Given the description of an element on the screen output the (x, y) to click on. 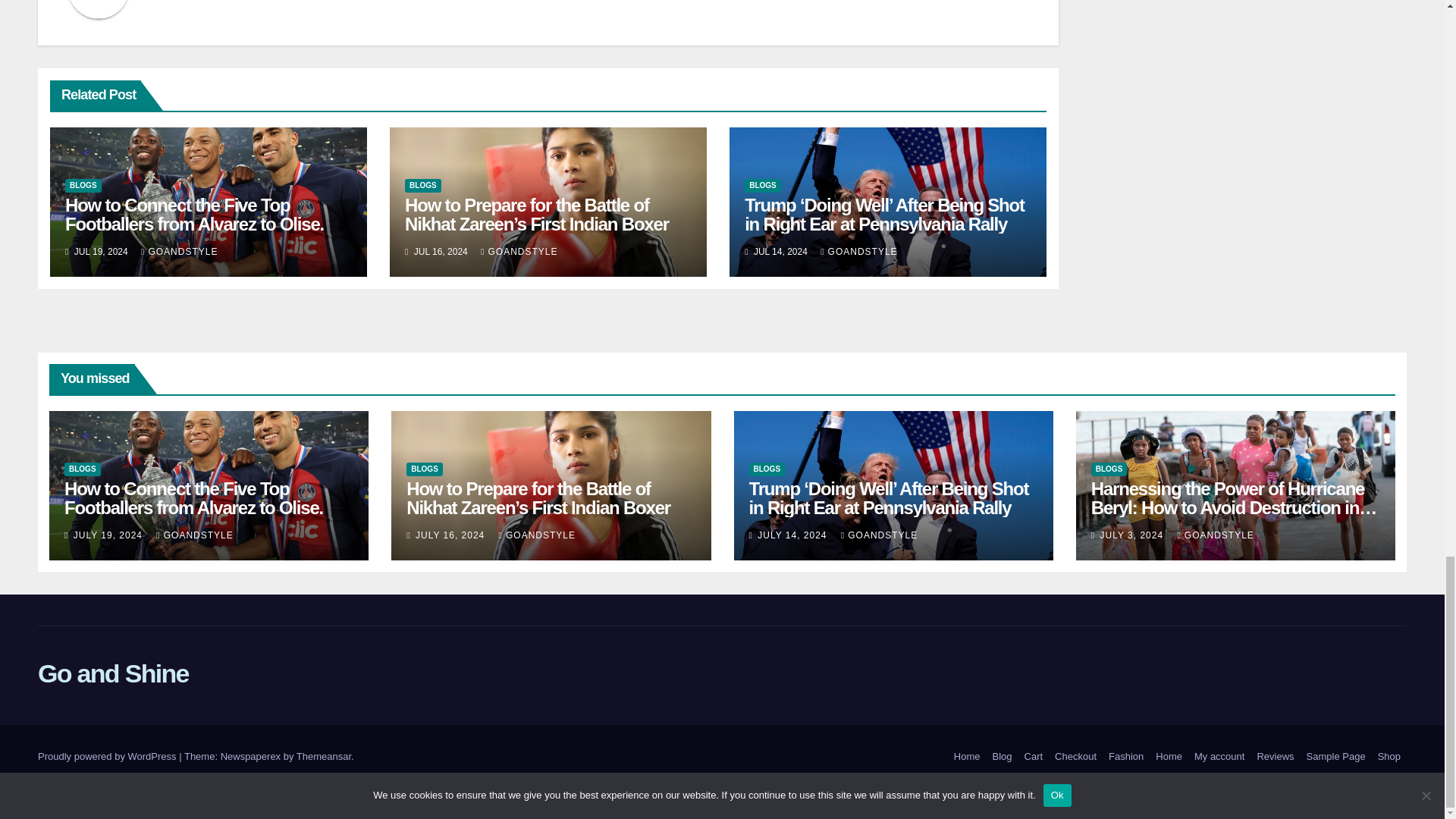
GOANDSTYLE (178, 251)
GOANDSTYLE (858, 251)
GOANDSTYLE (518, 251)
BLOGS (762, 185)
Home (967, 756)
BLOGS (83, 185)
BLOGS (422, 185)
